Given the description of an element on the screen output the (x, y) to click on. 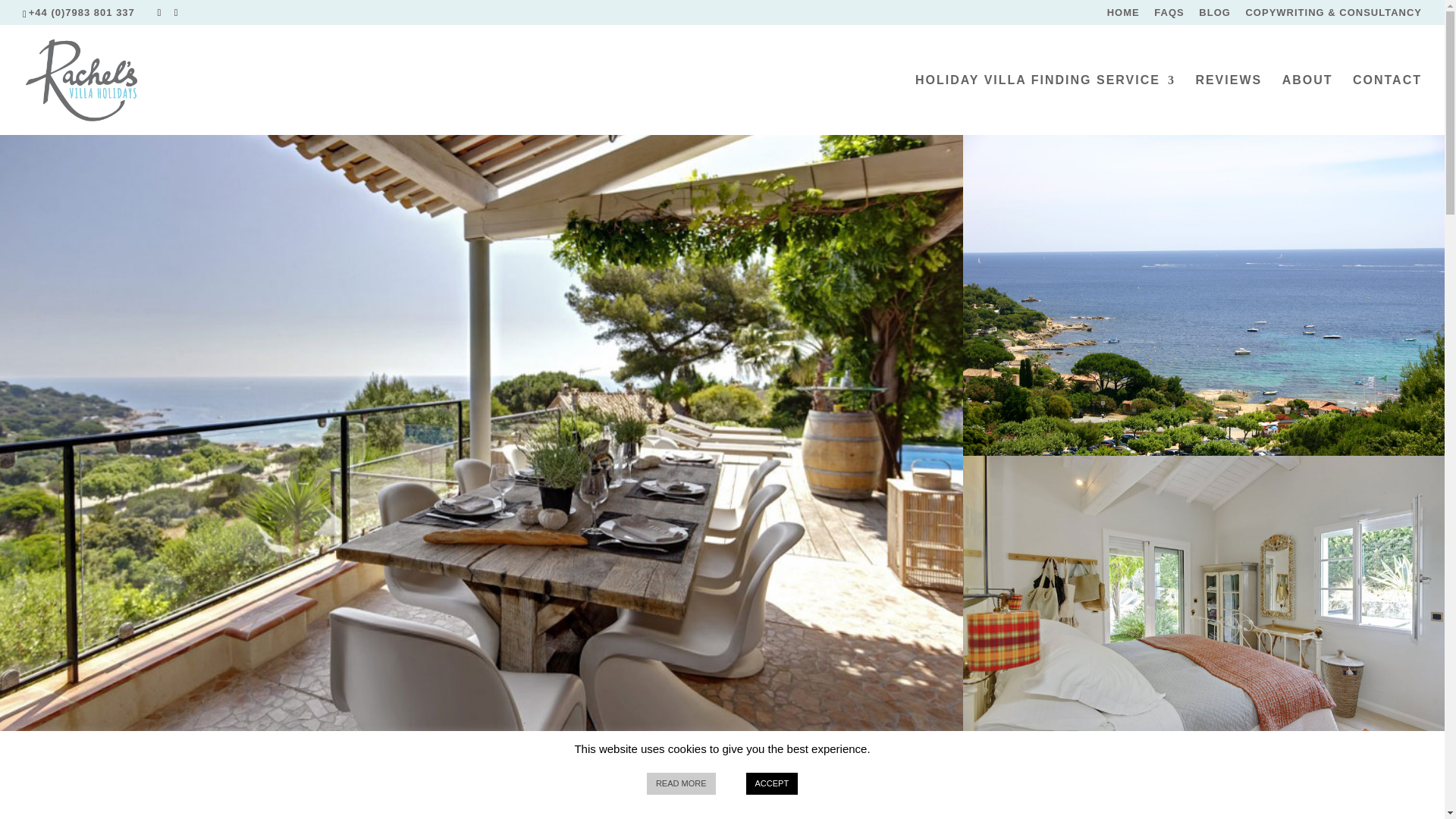
HOME (1123, 16)
REVIEWS (1228, 104)
HOLIDAY VILLA FINDING SERVICE (1044, 104)
GALLERY (722, 808)
BLOG (1214, 16)
FAQS (1168, 16)
CONTACT (1387, 104)
